Given the description of an element on the screen output the (x, y) to click on. 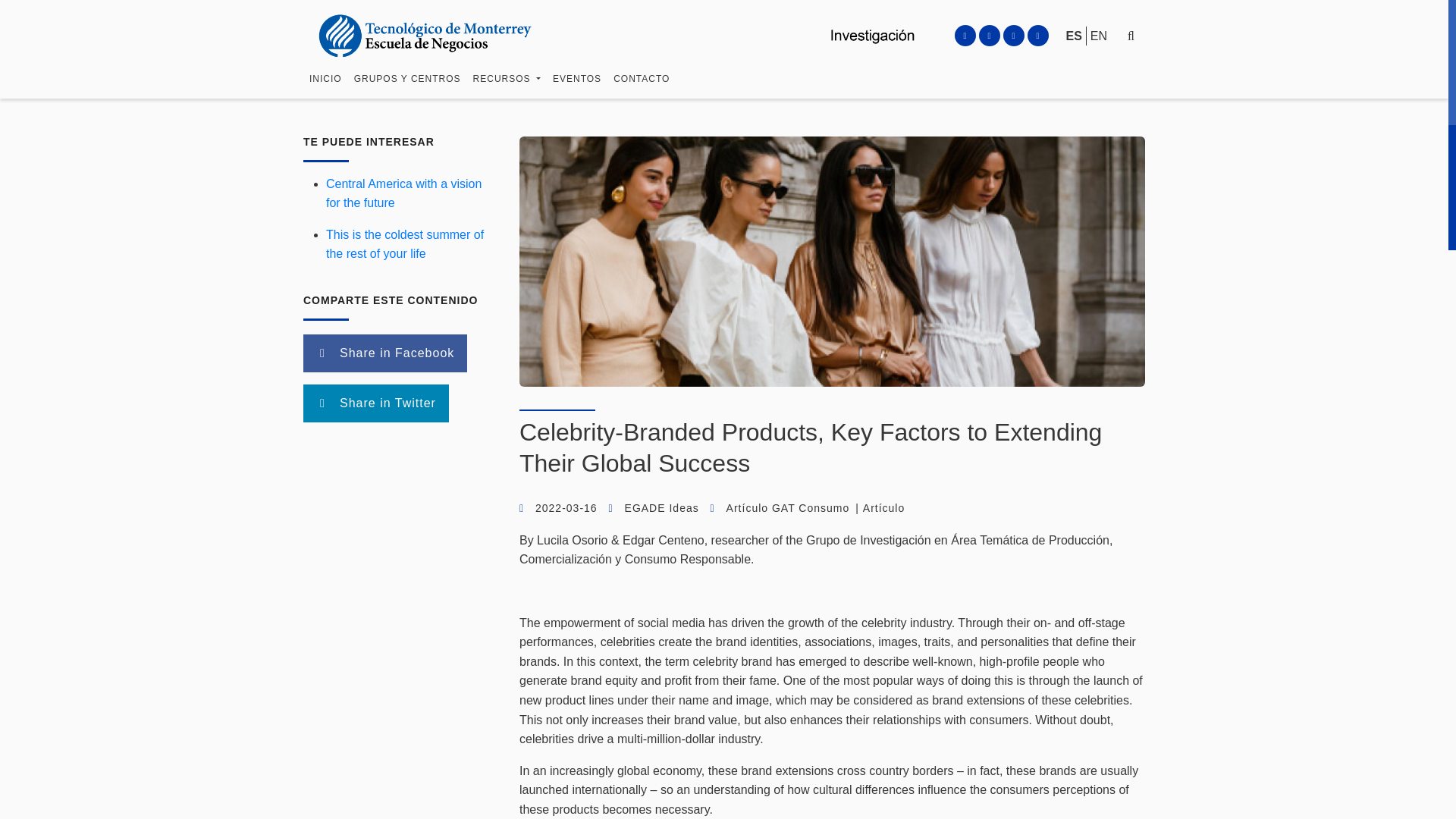
Share in Twitter (375, 403)
Central America with a vision for the future (403, 193)
EVENTOS (577, 101)
EN (1098, 18)
GRUPOS Y CENTROS (407, 89)
Twitter share (375, 403)
Share in Facebook (384, 353)
This is the coldest summer of the rest of your life (404, 244)
RECURSOS (507, 92)
CONTACTO (641, 94)
Buscar (1090, 84)
Facebook share (384, 353)
ES (1074, 13)
